Given the description of an element on the screen output the (x, y) to click on. 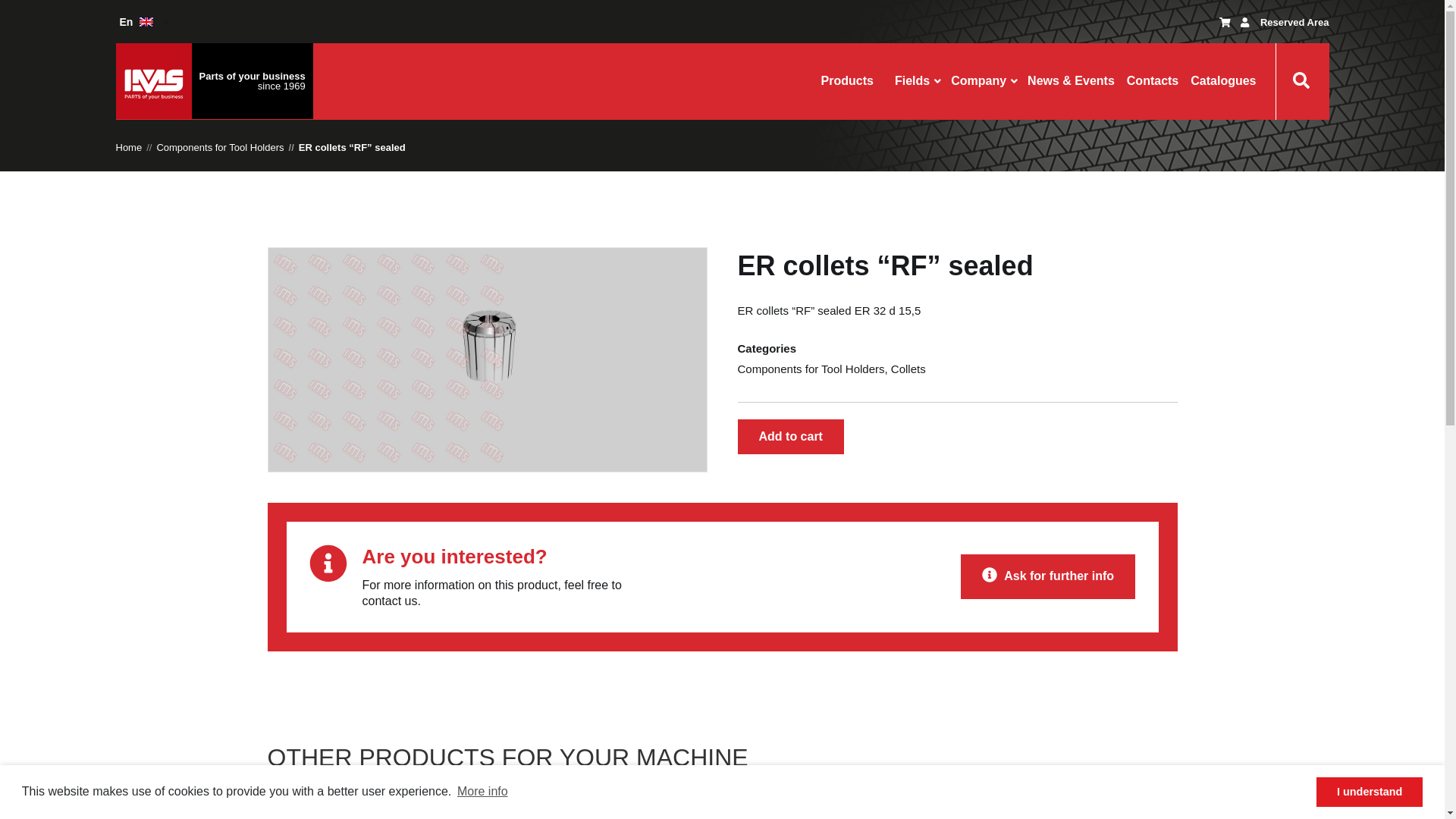
Profile (1244, 22)
Reserved Area (1294, 22)
Reserved Area (1294, 22)
Ask info about this product (1047, 576)
En (138, 21)
Cart (1225, 22)
Products (847, 81)
I understand (1369, 791)
More info (482, 791)
